Given the description of an element on the screen output the (x, y) to click on. 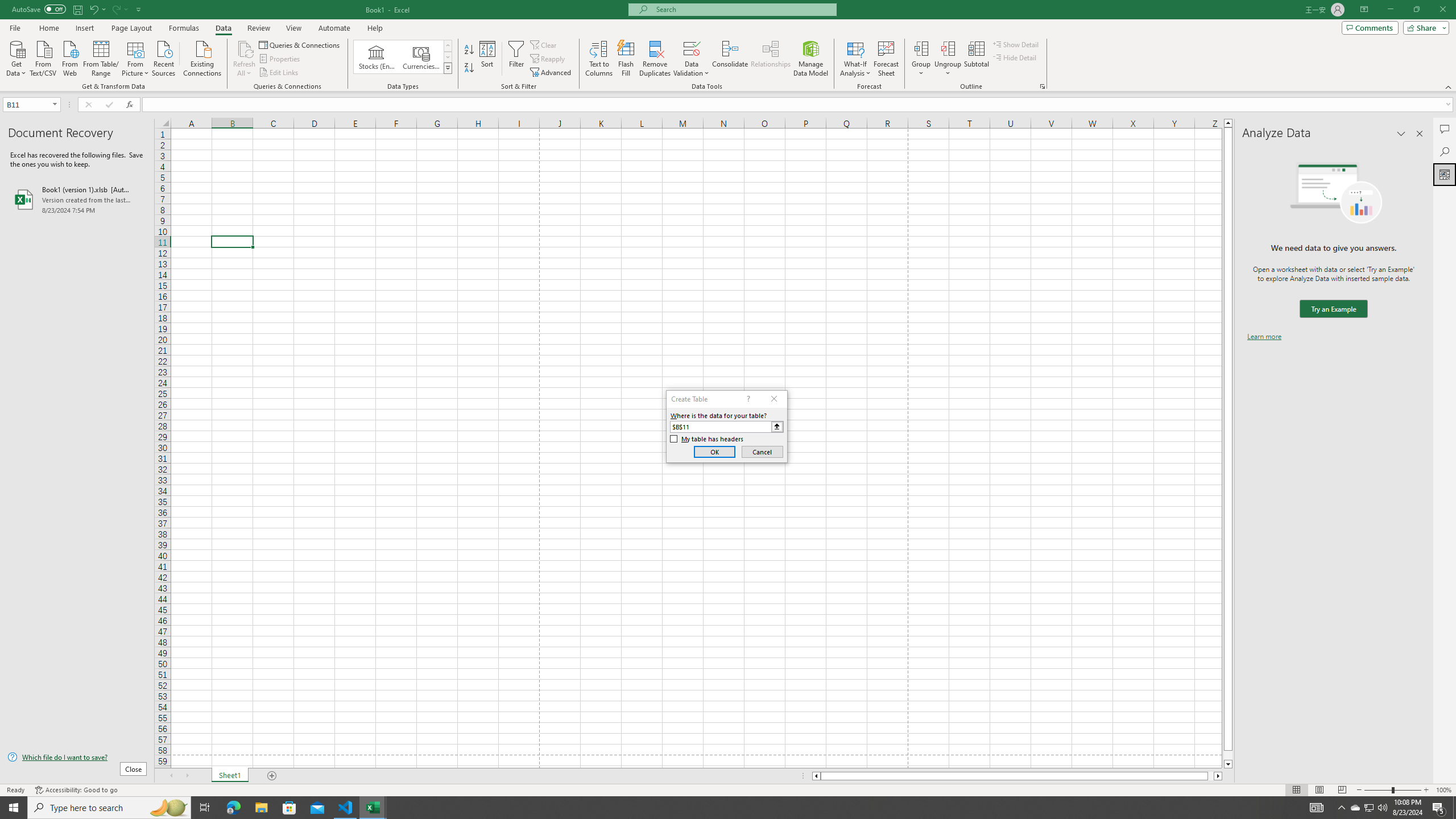
AutomationID: ConvertToLinkedEntity (403, 56)
Currencies (English) (420, 56)
Edit Links (279, 72)
Stocks (English) (375, 56)
Subtotal (976, 58)
Data Types (448, 67)
We need data to give you answers. Try an Example (1333, 308)
Advanced... (551, 72)
Properties (280, 58)
